Given the description of an element on the screen output the (x, y) to click on. 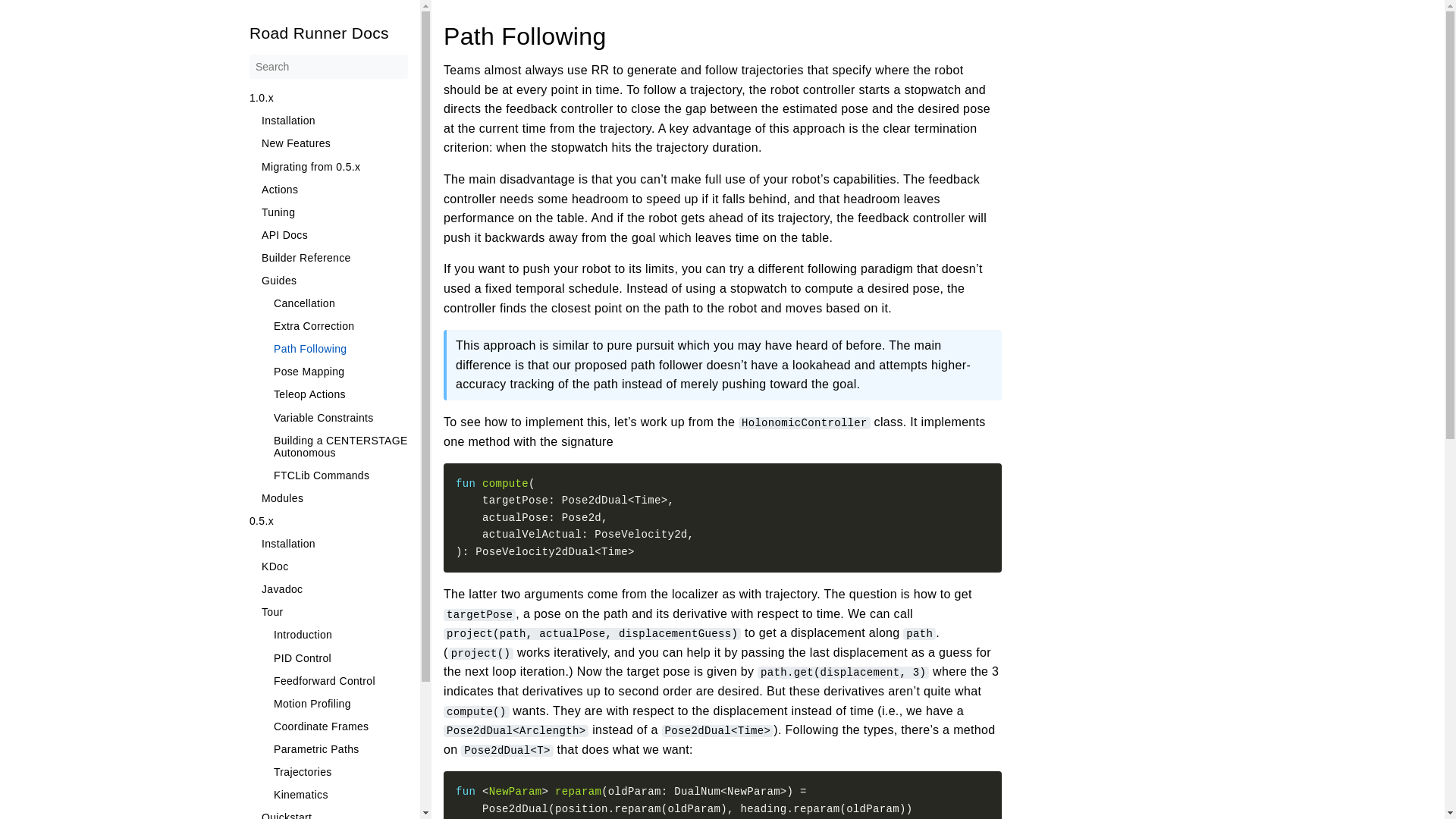
Kinematics (340, 794)
Parametric Paths (340, 748)
Motion Profiling (340, 703)
Migrating from 0.5.x (333, 166)
Builder Reference (333, 257)
API Docs (333, 234)
Teleop Actions (340, 394)
Building a CENTERSTAGE Autonomous (340, 446)
Installation (333, 120)
Path Following (340, 348)
